Given the description of an element on the screen output the (x, y) to click on. 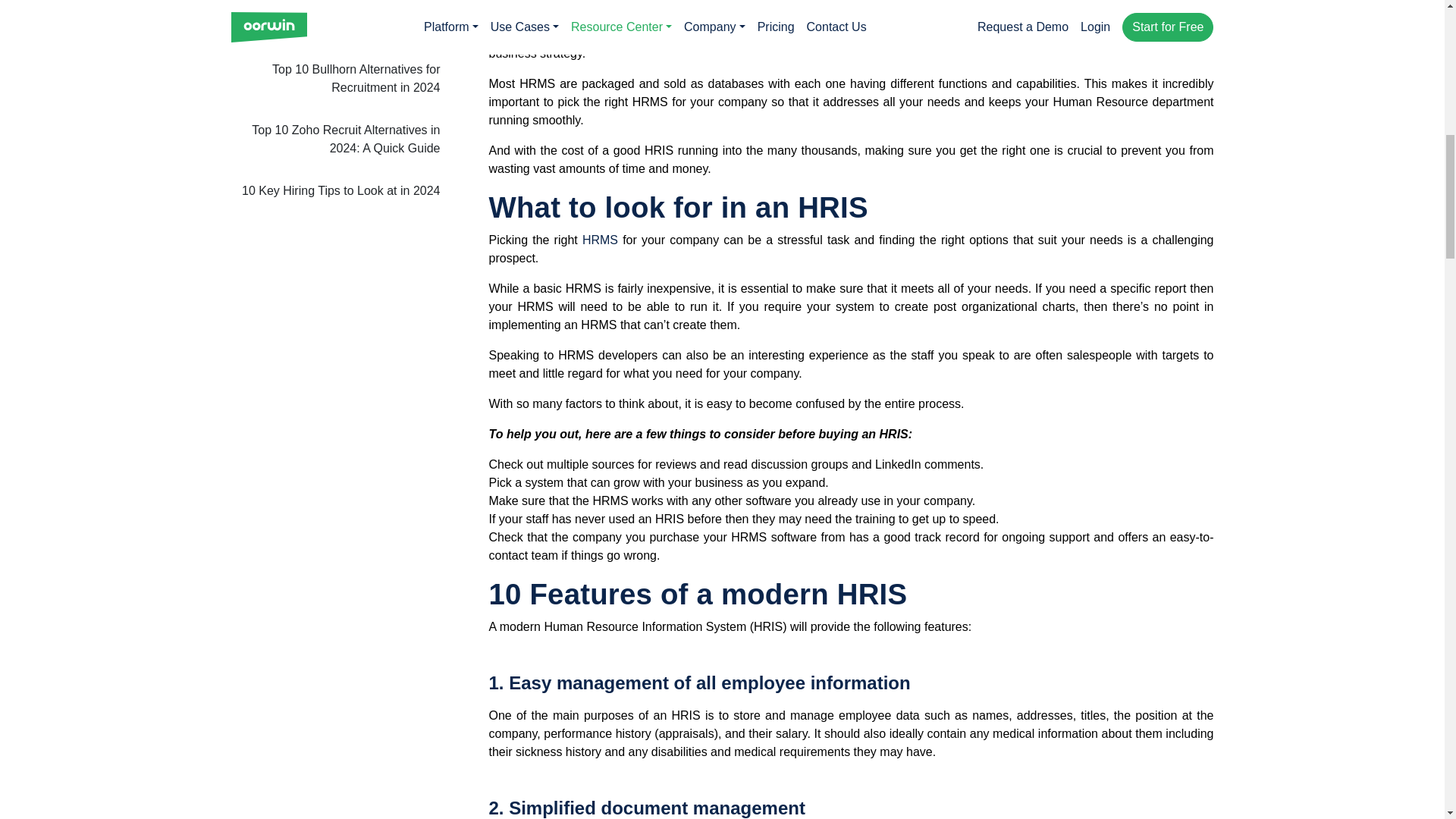
Top 10 Greenhouse Alternatives for Effective Hiring in 2024 (334, 24)
Top 10 Bullhorn Alternatives for Recruitment in 2024 (334, 78)
10 Key Hiring Tips to Look at in 2024 (334, 190)
Top 10 Zoho Recruit Alternatives in 2024: A Quick Guide (334, 138)
